Given the description of an element on the screen output the (x, y) to click on. 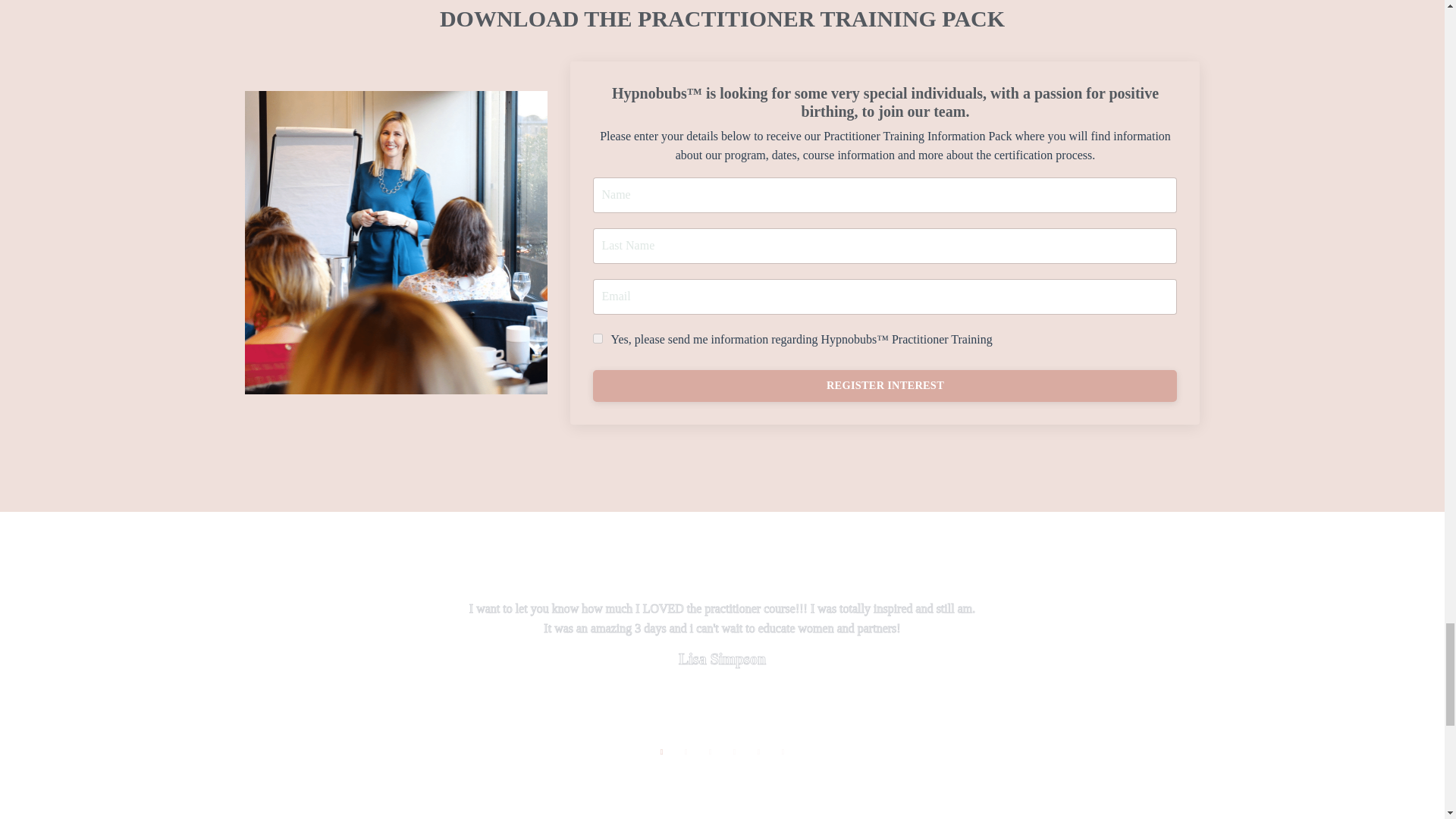
1 (660, 752)
5 (758, 752)
3 (709, 752)
6 (782, 752)
REGISTER INTEREST (884, 386)
2 (685, 752)
4 (733, 752)
1 (597, 338)
